Given the description of an element on the screen output the (x, y) to click on. 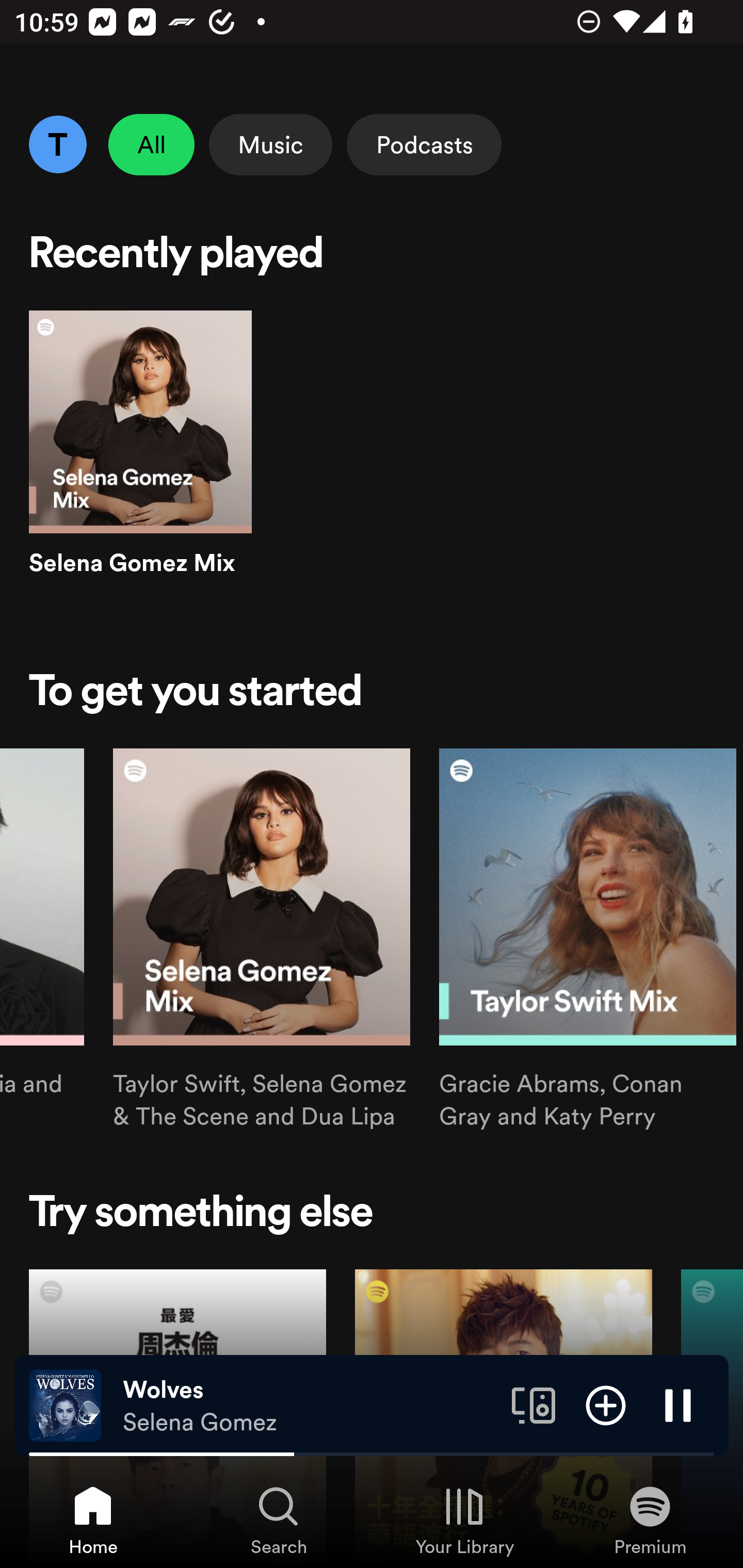
Profile (57, 144)
All Unselect All (151, 144)
Music Select Music (270, 144)
Podcasts Select Podcasts (423, 144)
Selena Gomez Mix (139, 460)
Wolves Selena Gomez (309, 1405)
The cover art of the currently playing track (64, 1404)
Connect to a device. Opens the devices menu (533, 1404)
Add item (605, 1404)
Pause (677, 1404)
Home, Tab 1 of 4 Home Home (92, 1519)
Search, Tab 2 of 4 Search Search (278, 1519)
Your Library, Tab 3 of 4 Your Library Your Library (464, 1519)
Premium, Tab 4 of 4 Premium Premium (650, 1519)
